Given the description of an element on the screen output the (x, y) to click on. 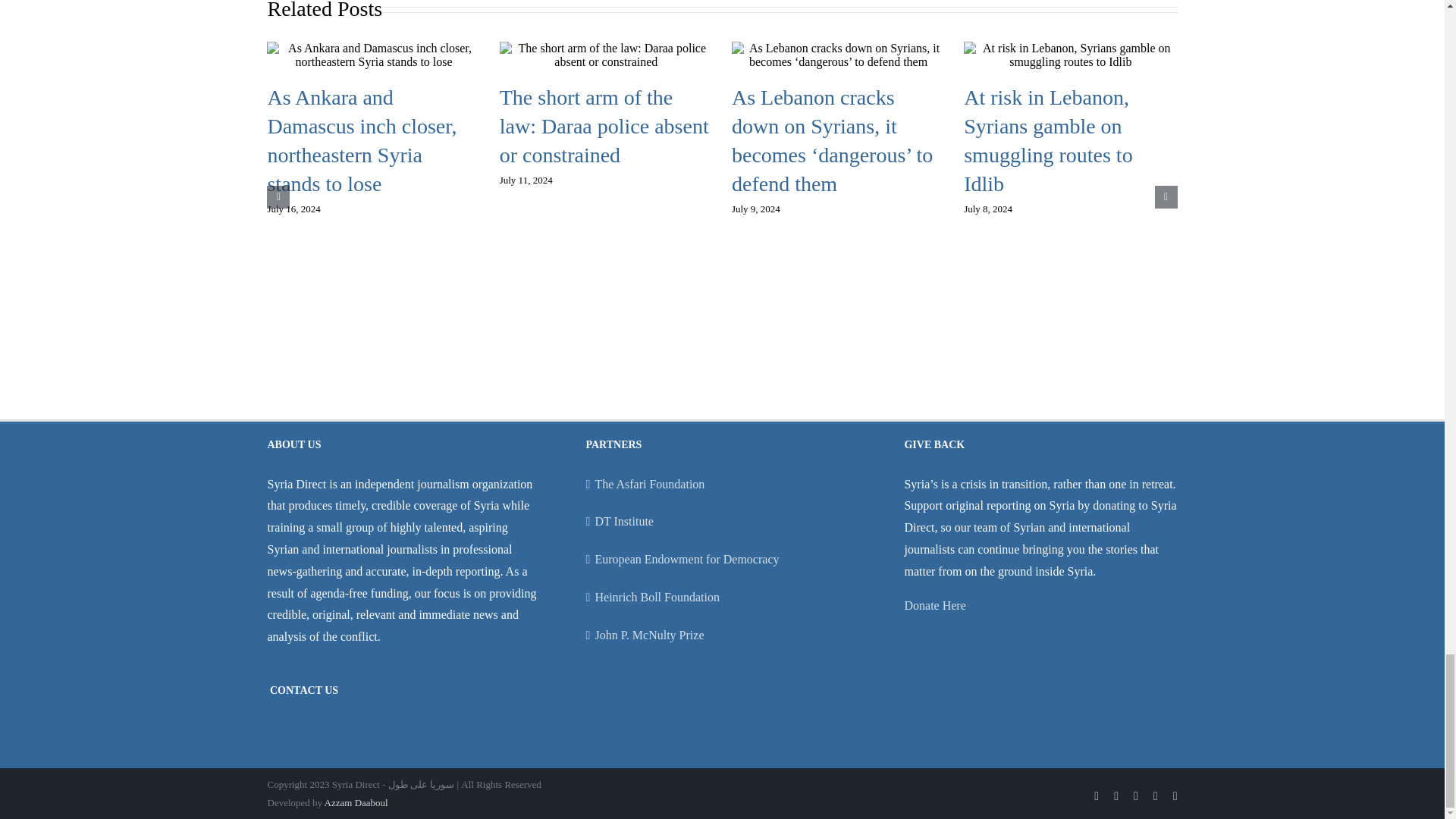
The short arm of the law: Daraa police absent or constrained (604, 126)
